Given the description of an element on the screen output the (x, y) to click on. 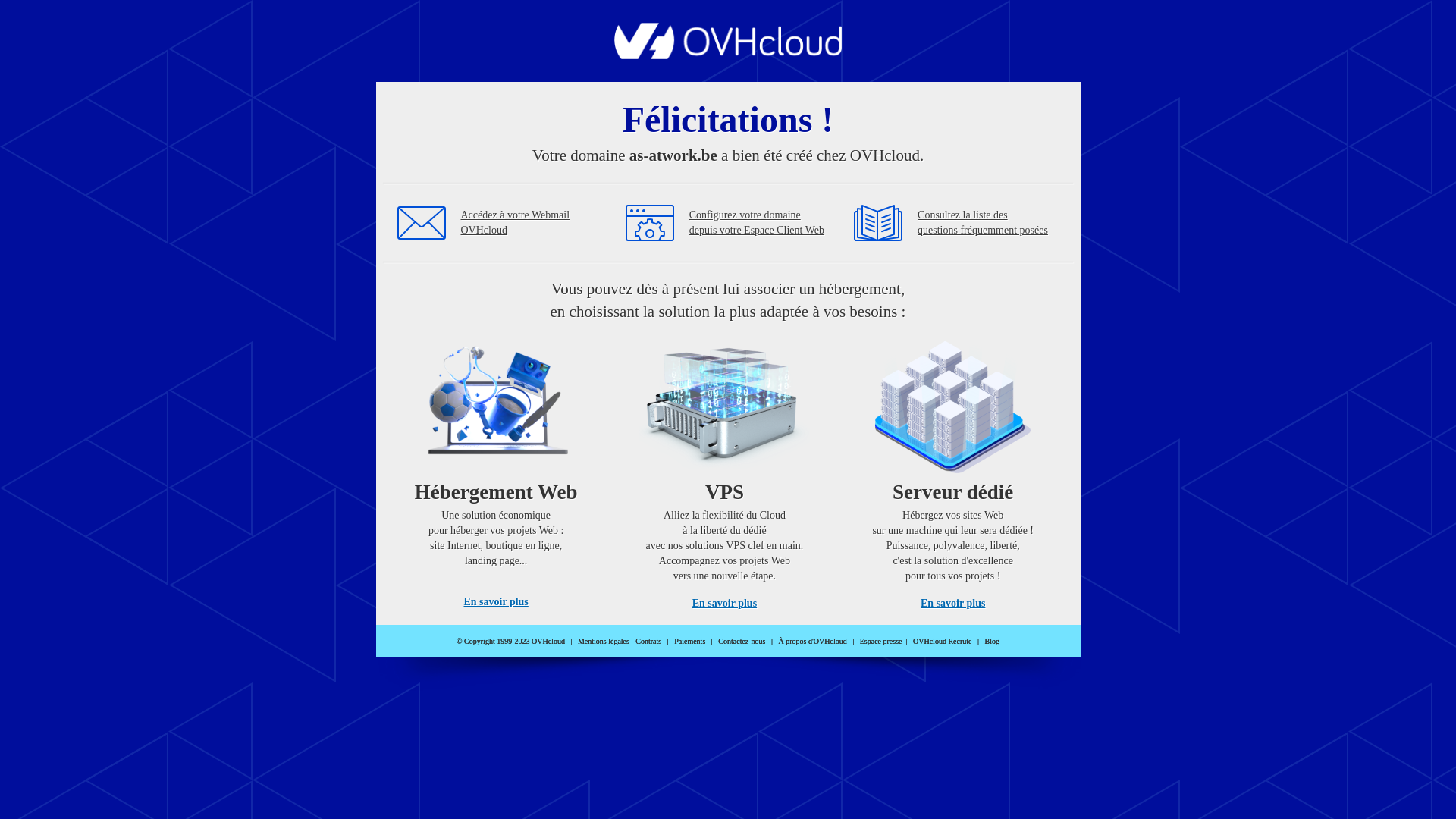
En savoir plus Element type: text (724, 602)
Paiements Element type: text (689, 641)
Configurez votre domaine
depuis votre Espace Client Web Element type: text (756, 222)
OVHcloud Recrute Element type: text (942, 641)
Blog Element type: text (992, 641)
En savoir plus Element type: text (495, 601)
En savoir plus Element type: text (952, 602)
VPS Element type: hover (724, 469)
OVHcloud Element type: hover (727, 54)
Espace presse Element type: text (880, 641)
Contactez-nous Element type: text (741, 641)
